Given the description of an element on the screen output the (x, y) to click on. 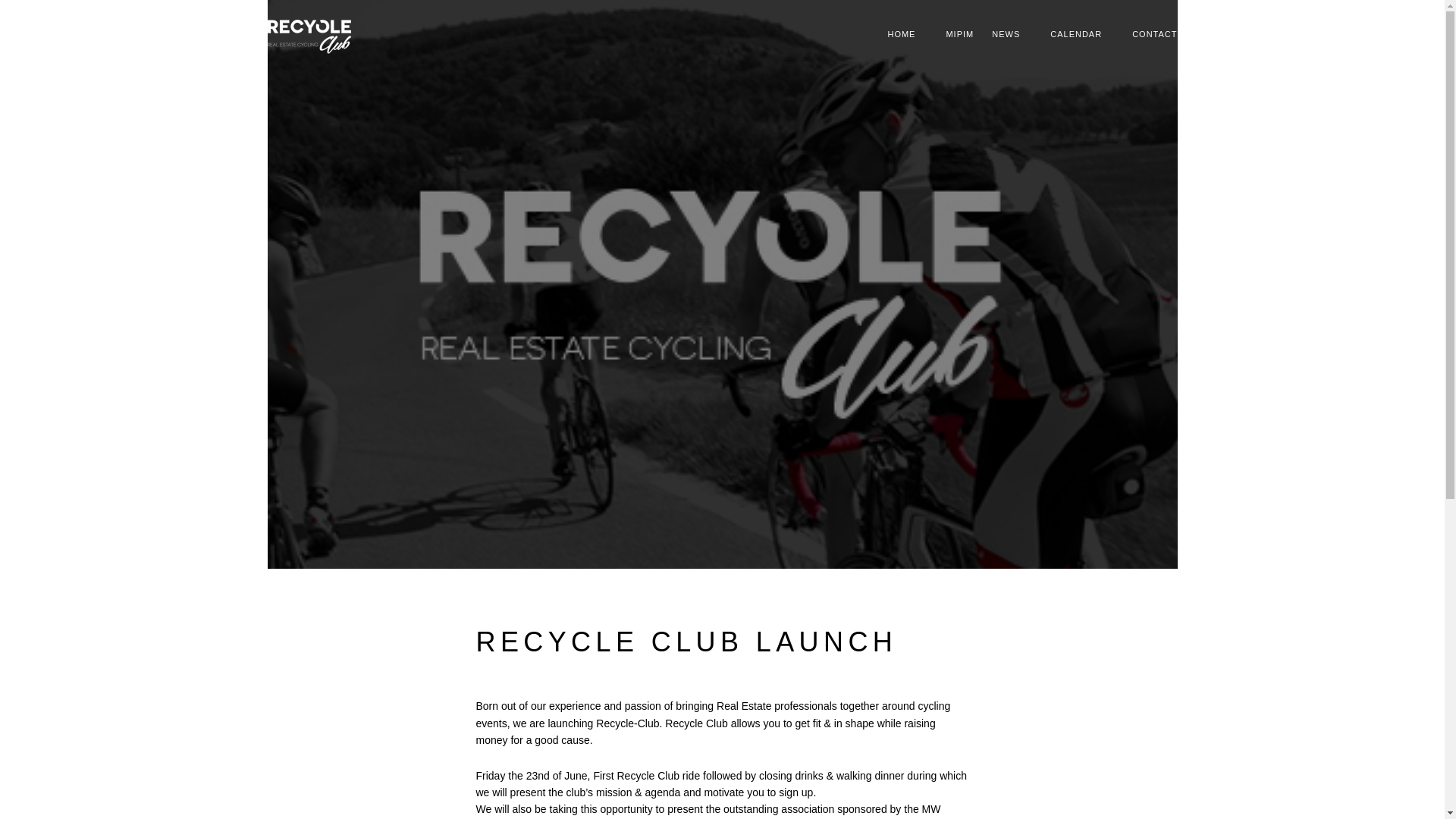
HOME (900, 34)
MIPIM (959, 34)
CALENDAR (1075, 34)
NEWS (1005, 34)
CONTACT (1154, 34)
